Given the description of an element on the screen output the (x, y) to click on. 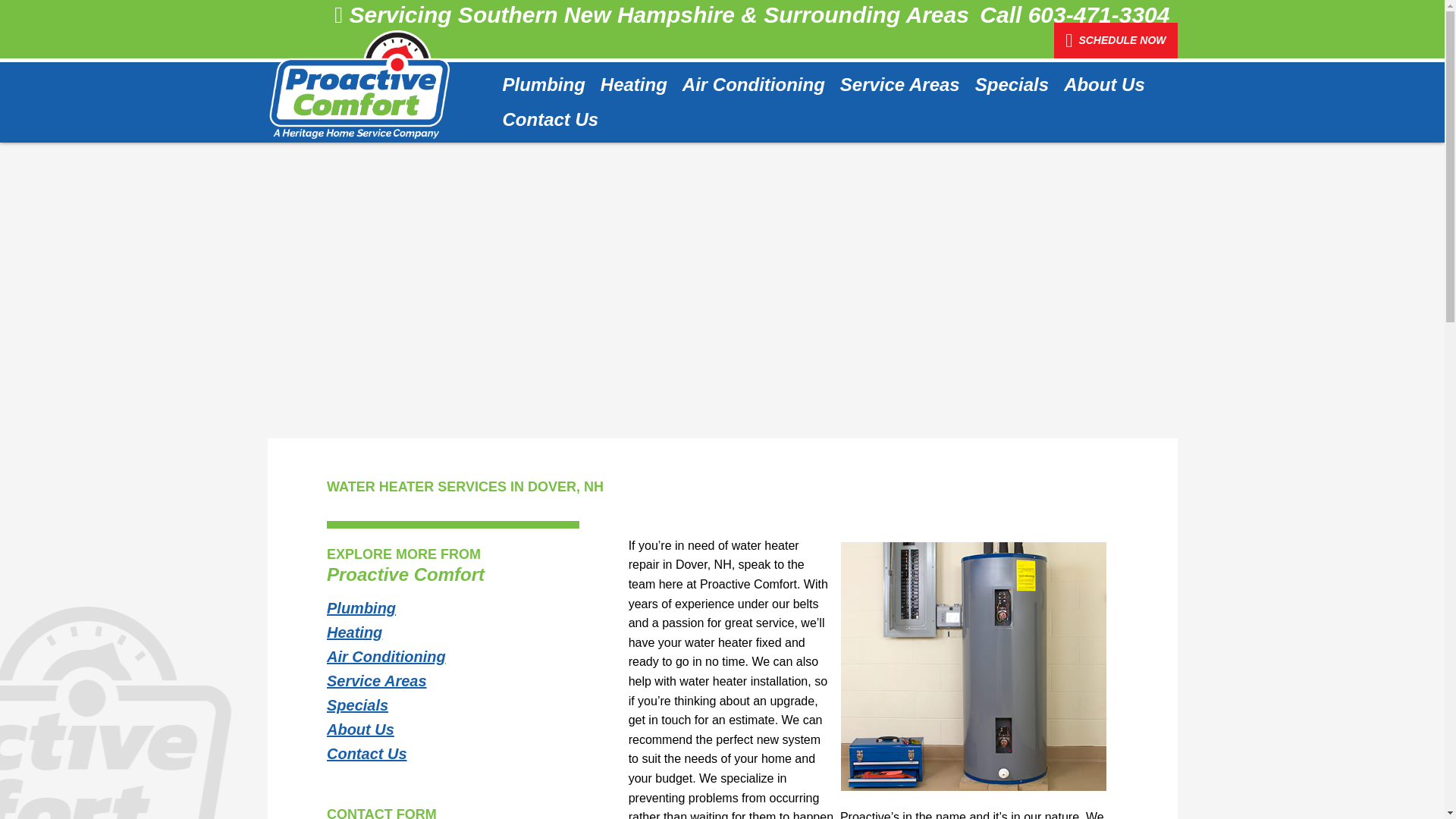
Call 603-471-3304 (1074, 14)
About Us (1105, 84)
Heating (633, 84)
SCHEDULE NOW (1115, 40)
Plumbing (543, 84)
Air Conditioning (753, 84)
Specials (1012, 84)
Service Areas (900, 84)
Contact Us (546, 119)
